Given the description of an element on the screen output the (x, y) to click on. 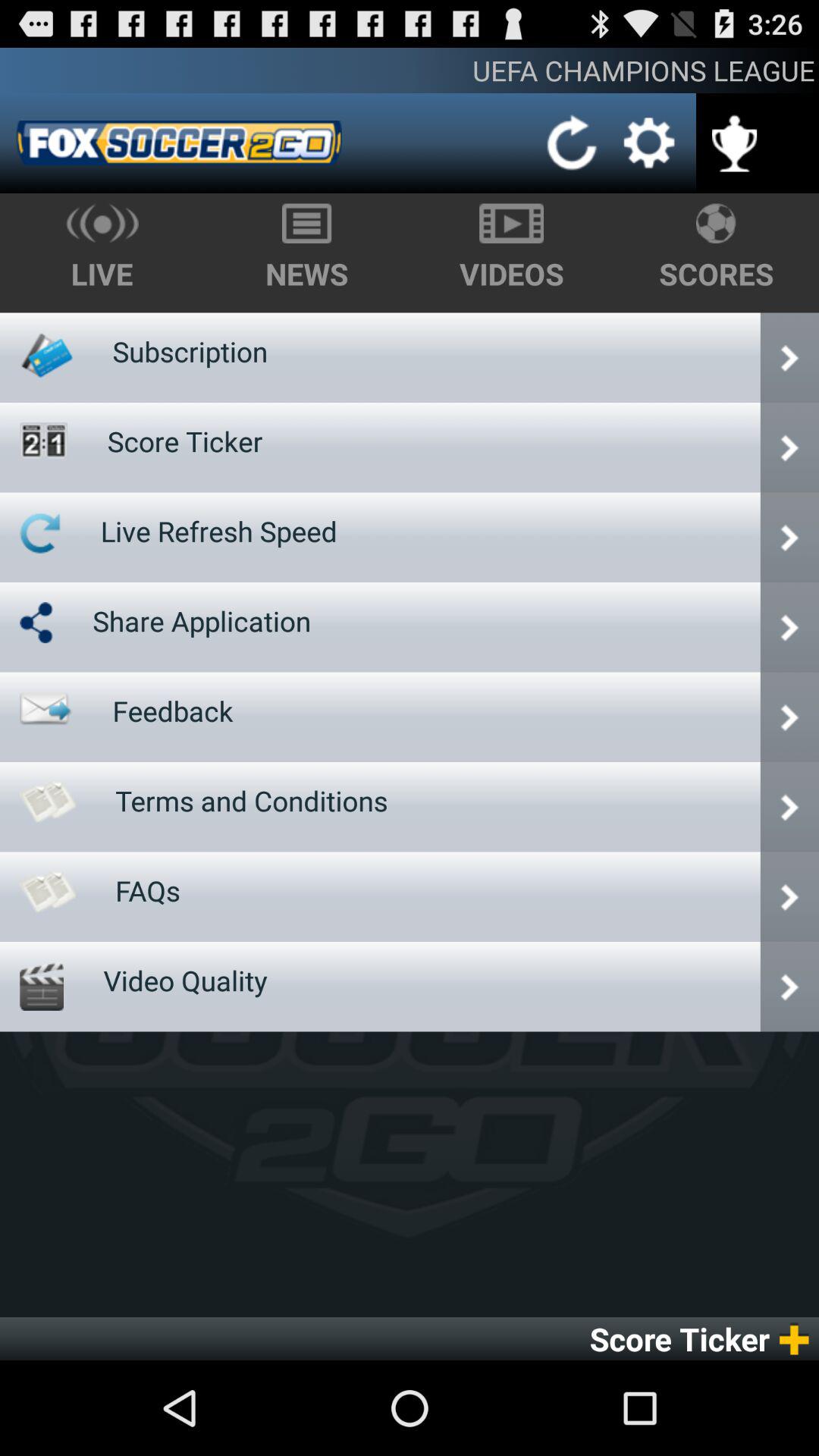
click item below feedback (251, 800)
